Given the description of an element on the screen output the (x, y) to click on. 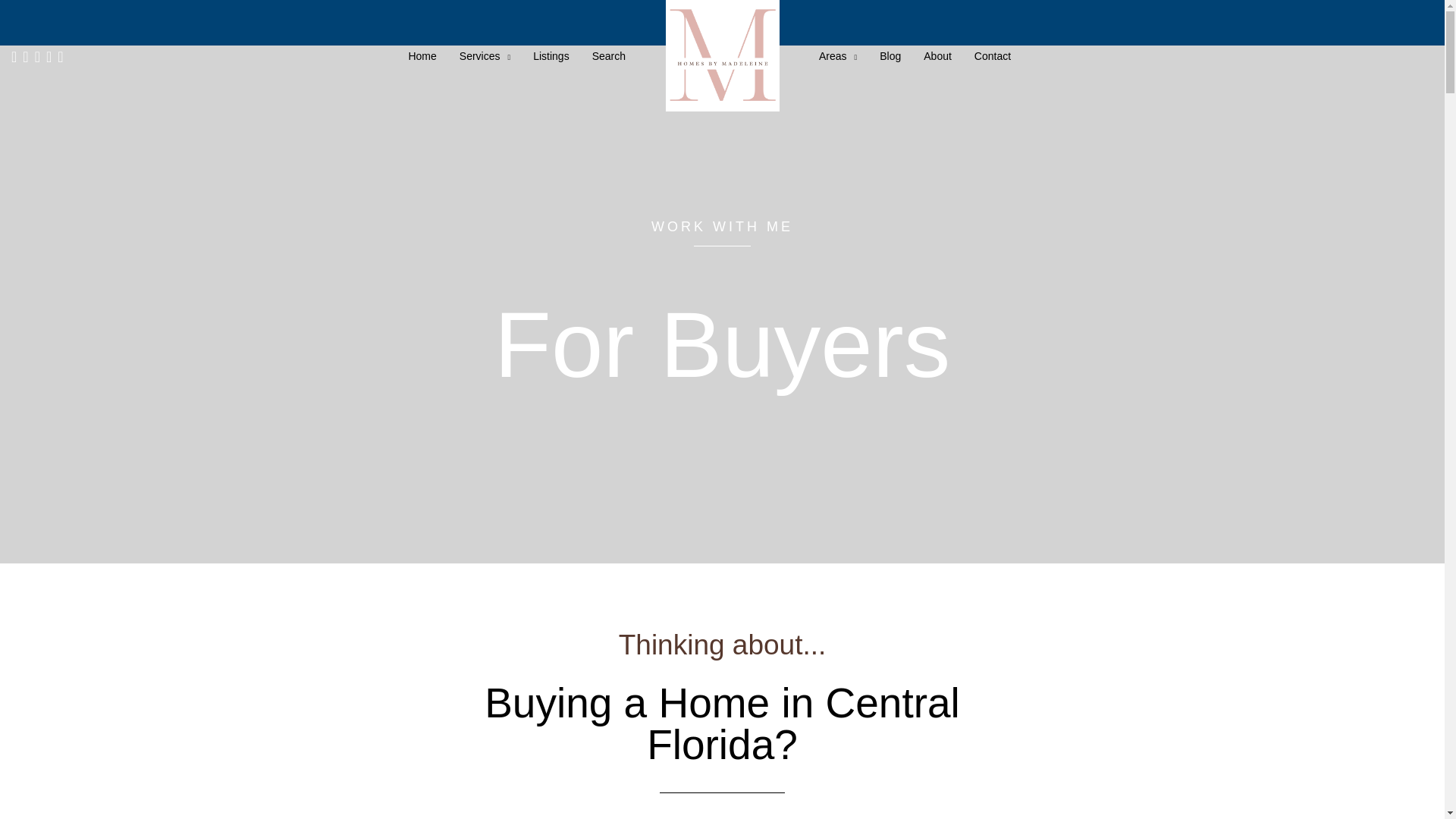
Blog (889, 55)
Services (484, 56)
Listings (550, 55)
Contact (992, 55)
Home (421, 55)
Search (608, 55)
Areas (837, 56)
About (937, 55)
